Given the description of an element on the screen output the (x, y) to click on. 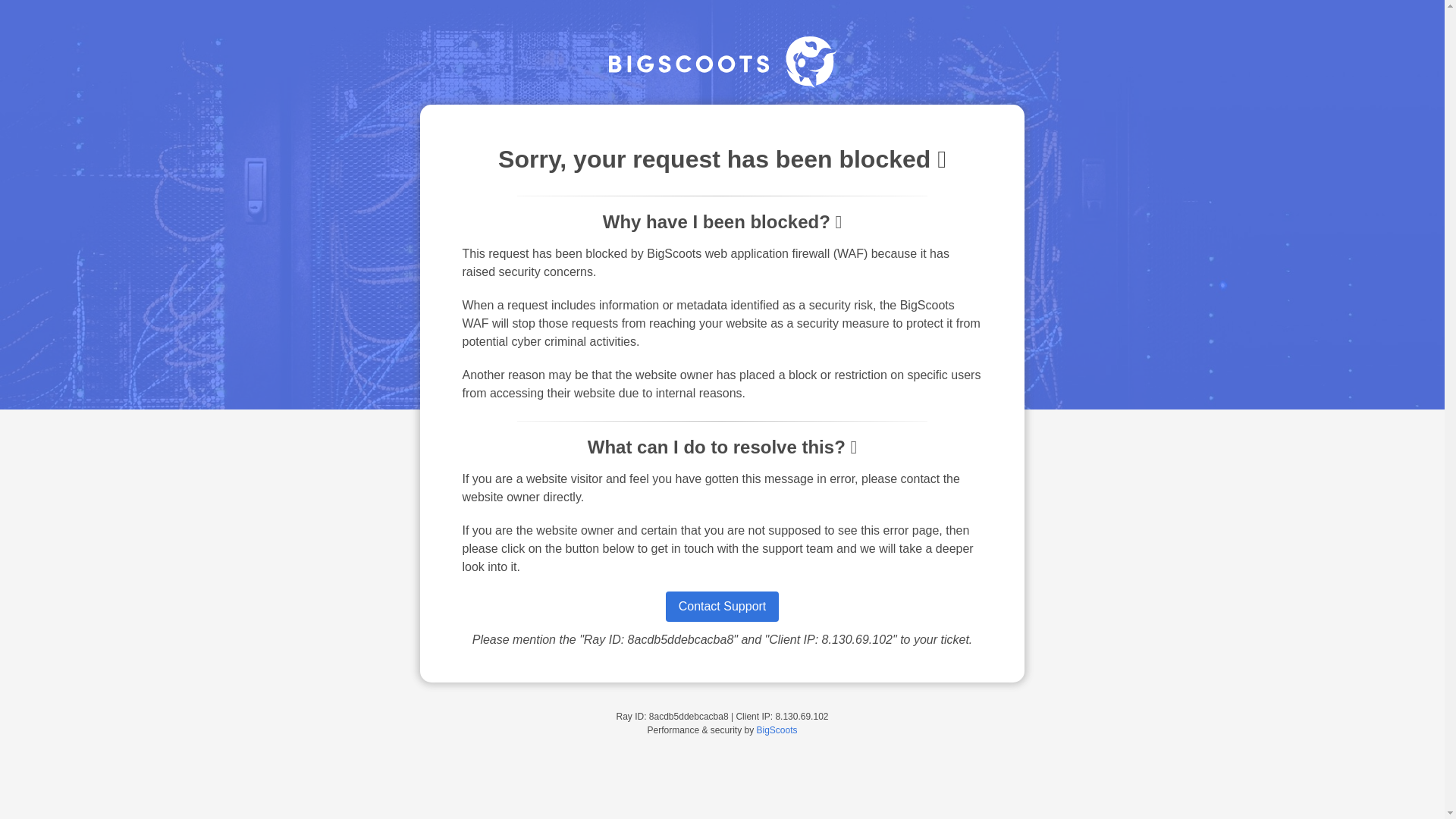
BigScoots (777, 729)
Contact Support (721, 606)
